Given the description of an element on the screen output the (x, y) to click on. 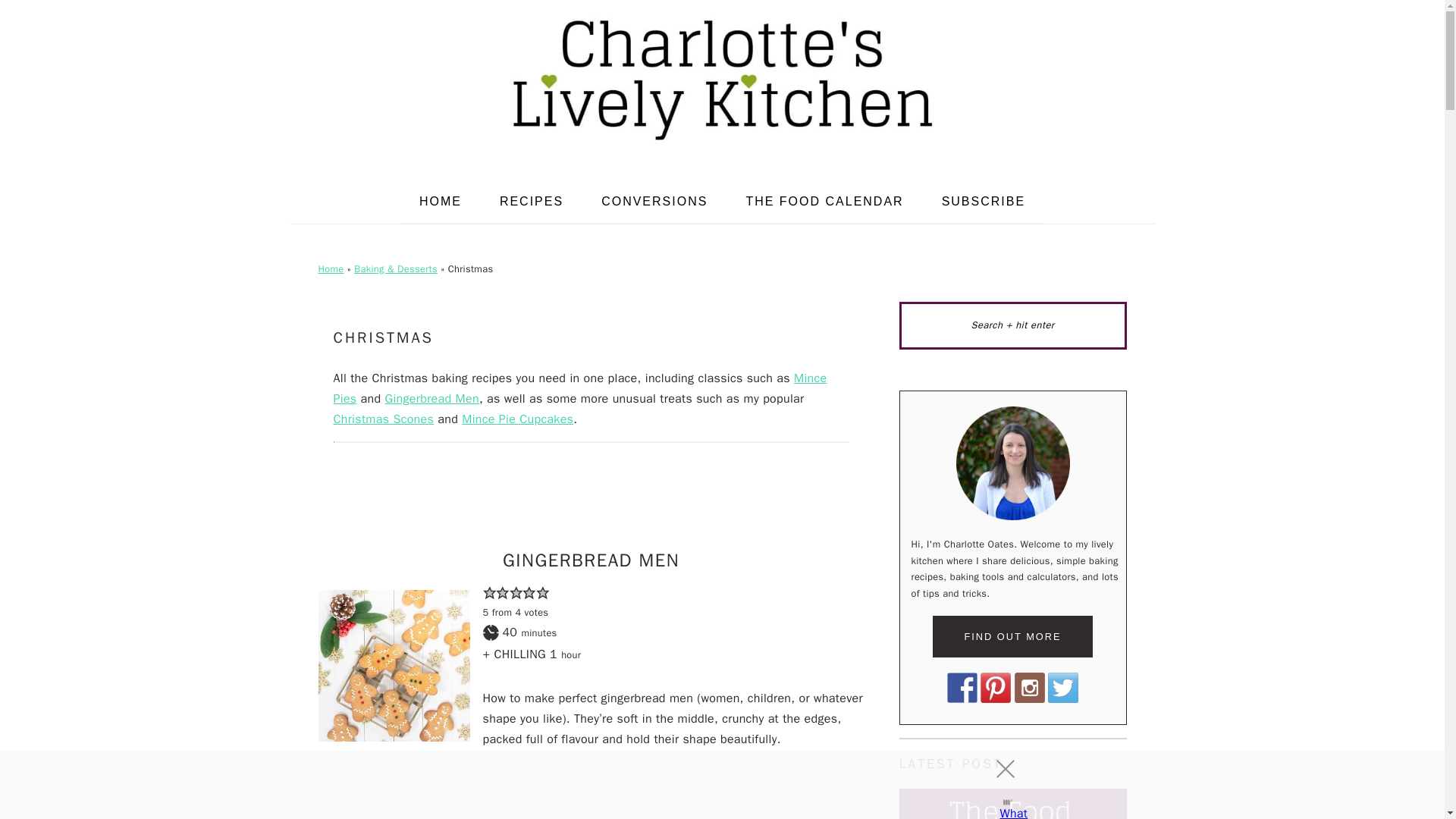
HOME (440, 201)
SUBSCRIBE (983, 201)
RECIPES (531, 201)
THE FOOD CALENDAR (823, 201)
CONVERSIONS (654, 201)
Charlotte's Lively Kitchen (721, 148)
Charlotte's Lively Kitchen (721, 78)
